Given the description of an element on the screen output the (x, y) to click on. 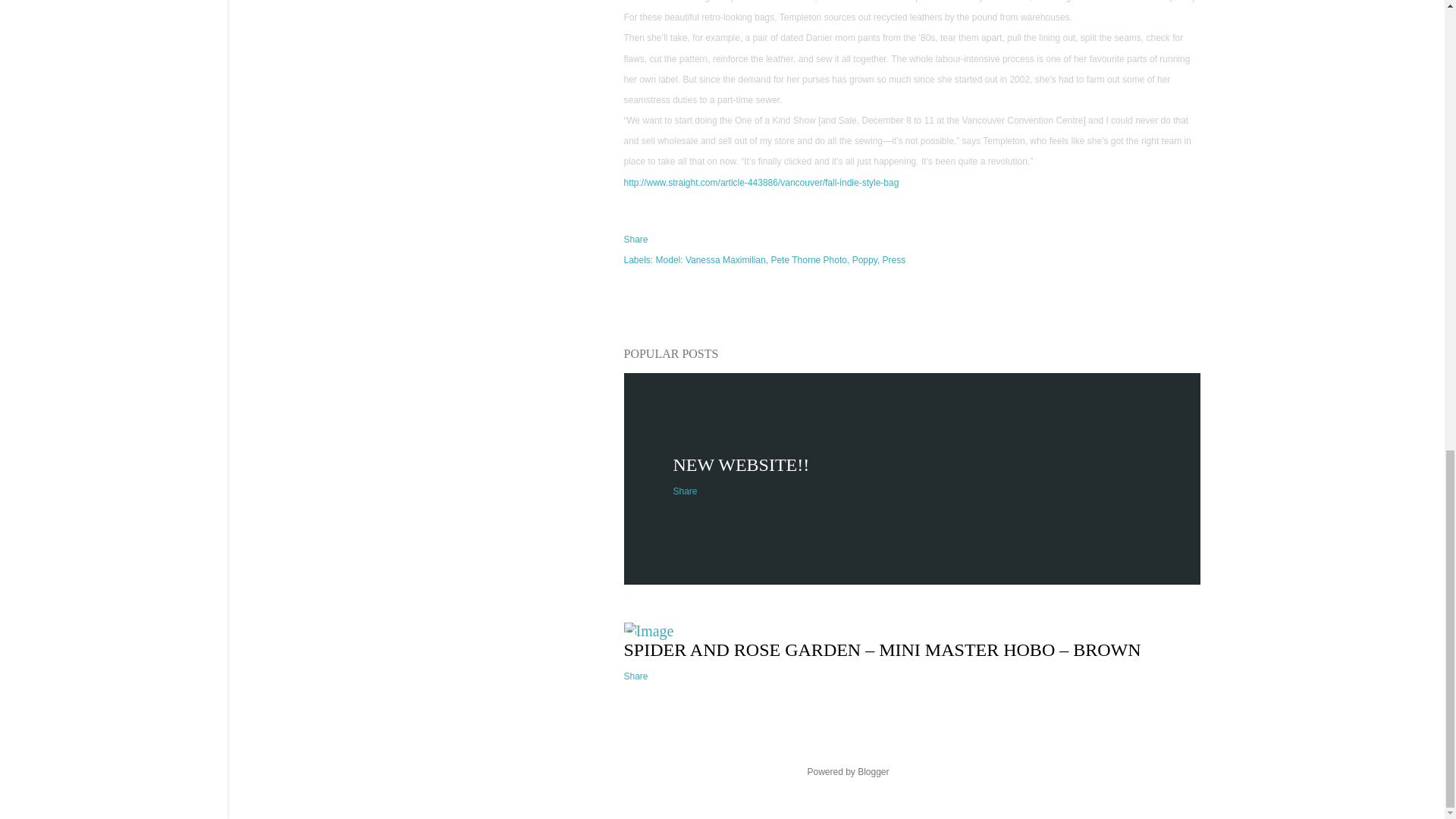
Share (635, 675)
Model: Vanessa Maximilian (712, 259)
Pete Thorne Photo (809, 259)
Press (893, 259)
Share (684, 491)
NEW WEBSITE!! (740, 465)
Poppy (865, 259)
Share (635, 239)
